Given the description of an element on the screen output the (x, y) to click on. 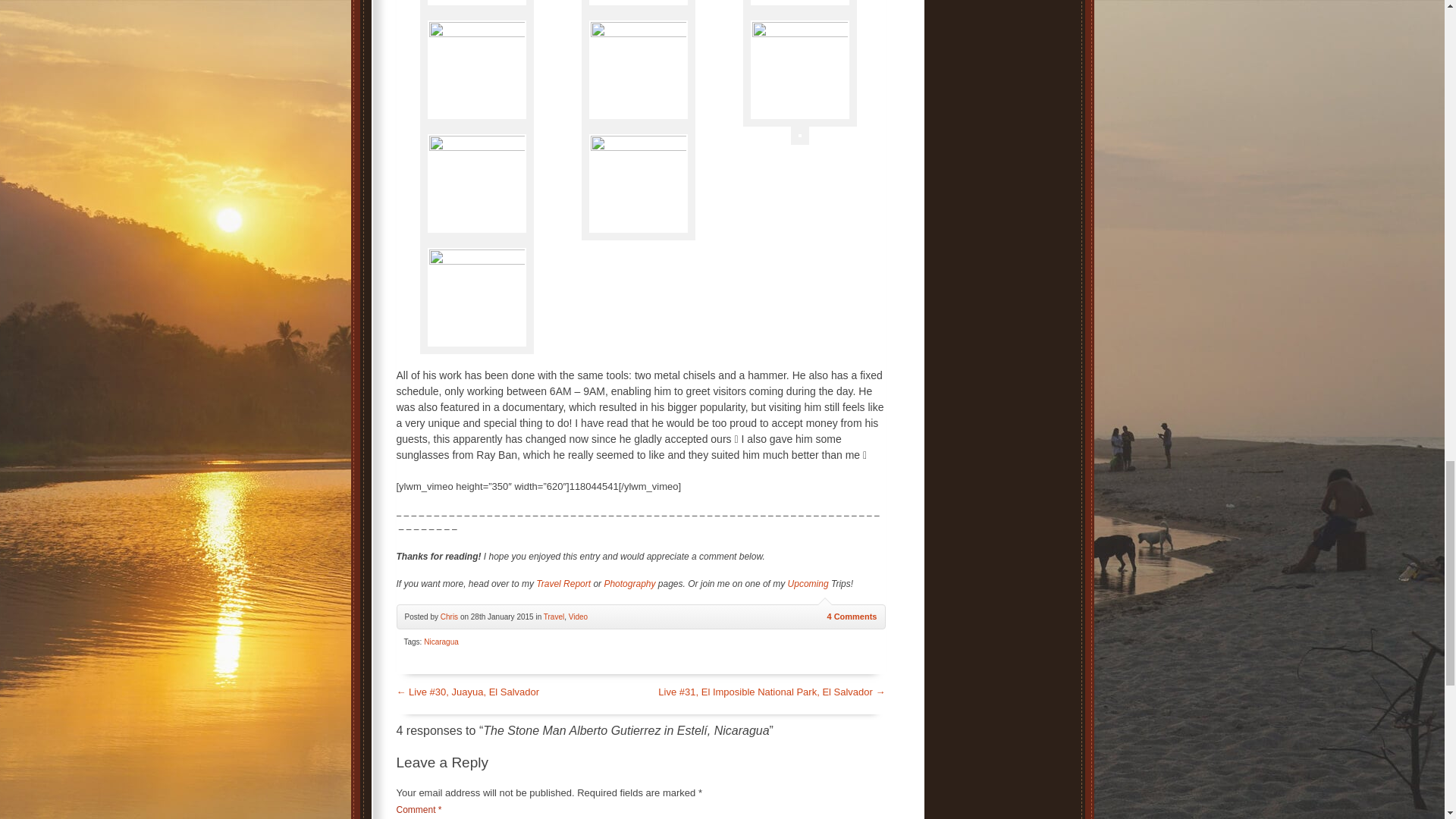
Posts by Chris (449, 616)
